Given the description of an element on the screen output the (x, y) to click on. 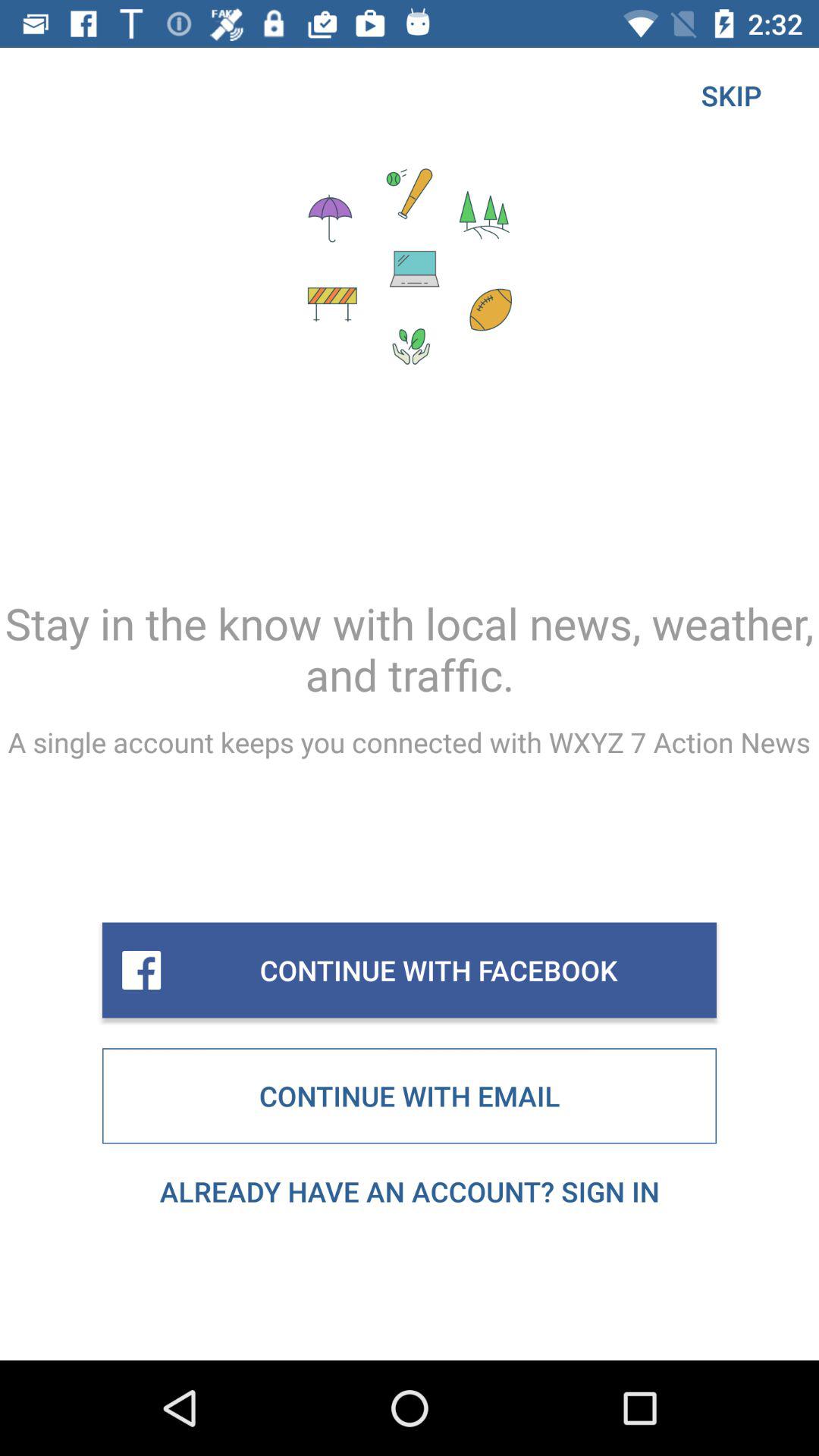
turn on icon at the top right corner (731, 95)
